Given the description of an element on the screen output the (x, y) to click on. 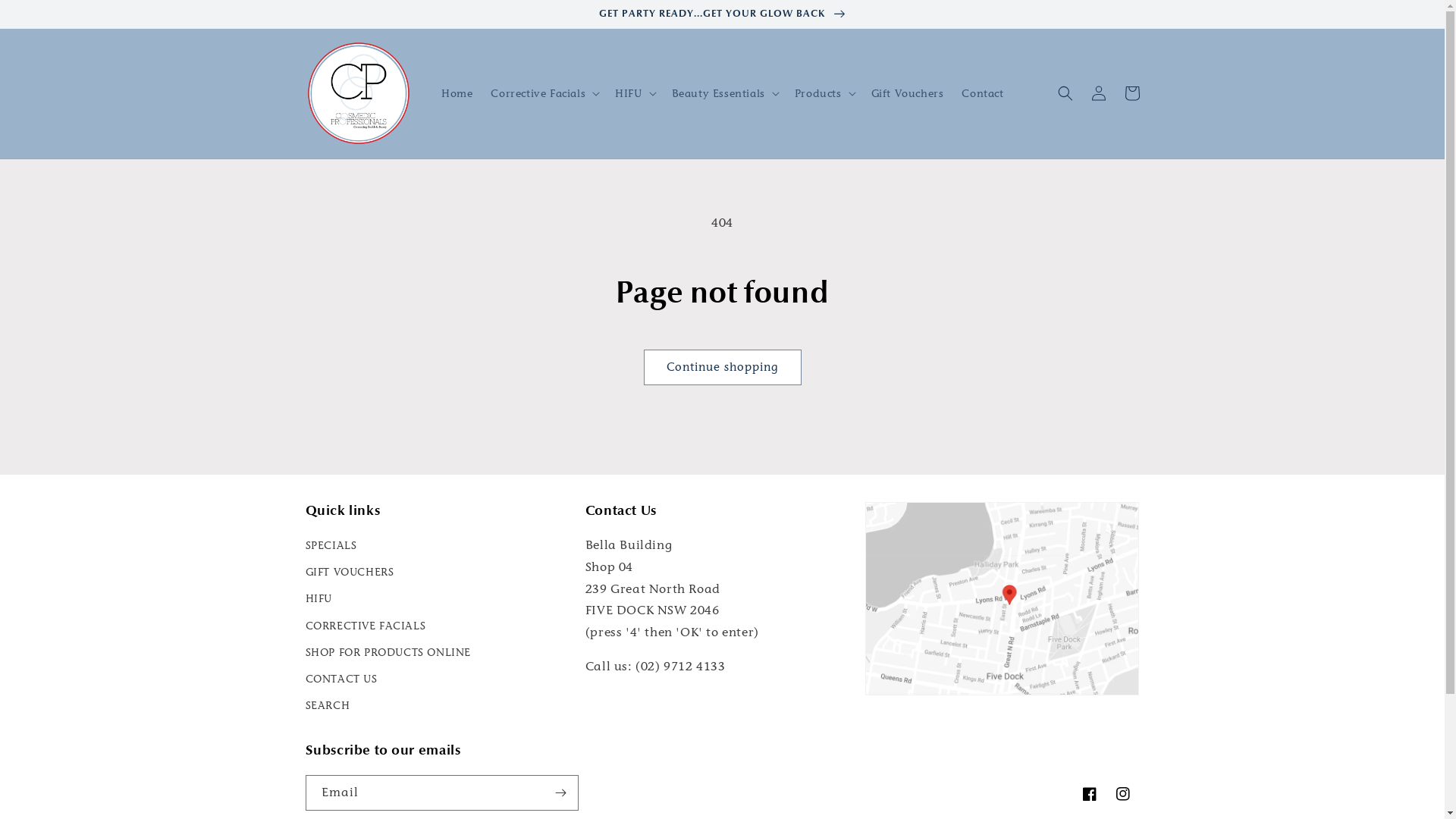
Continue shopping Element type: text (721, 367)
GET PARTY READY...GET YOUR GLOW BACK Element type: text (722, 14)
Cart Element type: text (1131, 92)
Instagram Element type: text (1122, 793)
Contact Element type: text (982, 93)
HIFU Element type: text (317, 598)
GIFT VOUCHERS Element type: text (348, 571)
CONTACT US Element type: text (340, 678)
Gift Vouchers Element type: text (907, 93)
SHOP FOR PRODUCTS ONLINE Element type: text (387, 652)
Facebook Element type: text (1088, 793)
CORRECTIVE FACIALS Element type: text (364, 625)
SEARCH Element type: text (326, 705)
Log in Element type: text (1097, 92)
Home Element type: text (456, 93)
SPECIALS Element type: text (330, 547)
